Given the description of an element on the screen output the (x, y) to click on. 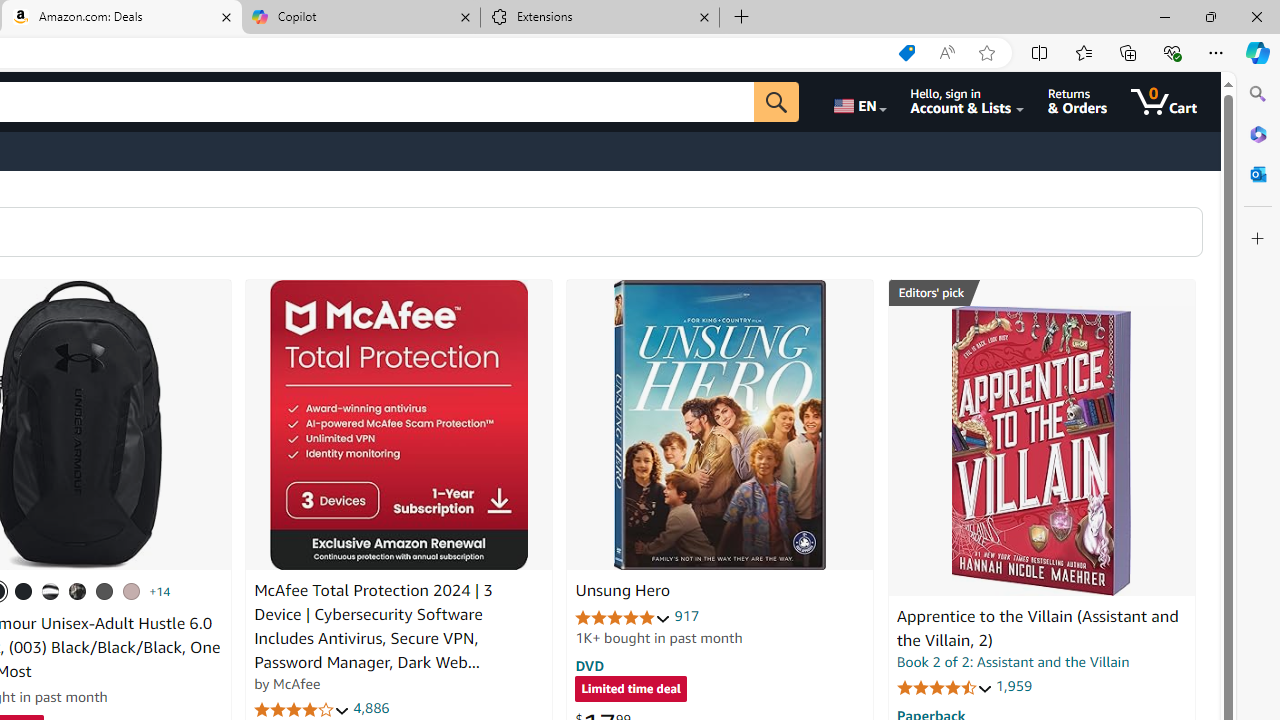
Apprentice to the Villain (Assistant and the Villain, 2) (1037, 628)
Editors' pick Best Science Fiction & Fantasy (1041, 293)
Hello, sign in Account & Lists (967, 101)
Apprentice to the Villain (Assistant and the Villain, 2) (1041, 451)
0 items in cart (1163, 101)
917 (687, 616)
+14 (159, 591)
